Given the description of an element on the screen output the (x, y) to click on. 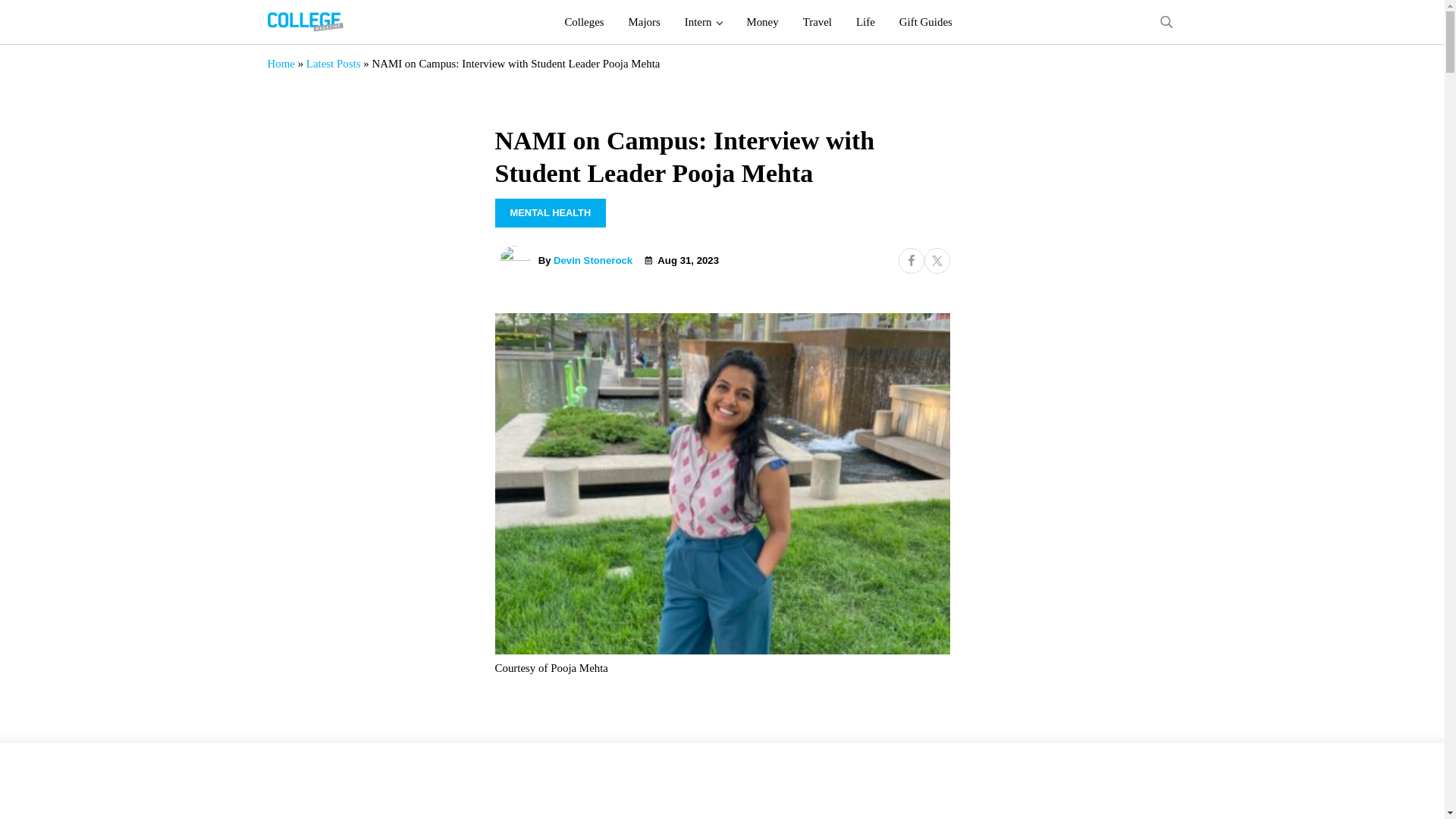
Money (761, 21)
Share on Facebook (910, 260)
Majors (643, 21)
Life (865, 21)
Intern (703, 21)
Gift Guides (924, 21)
Colleges (583, 21)
Share on Twitter (936, 260)
MENTAL HEALTH (550, 213)
Travel (817, 21)
Devin Stonerock (592, 260)
Home (280, 63)
Latest Posts (333, 63)
